Given the description of an element on the screen output the (x, y) to click on. 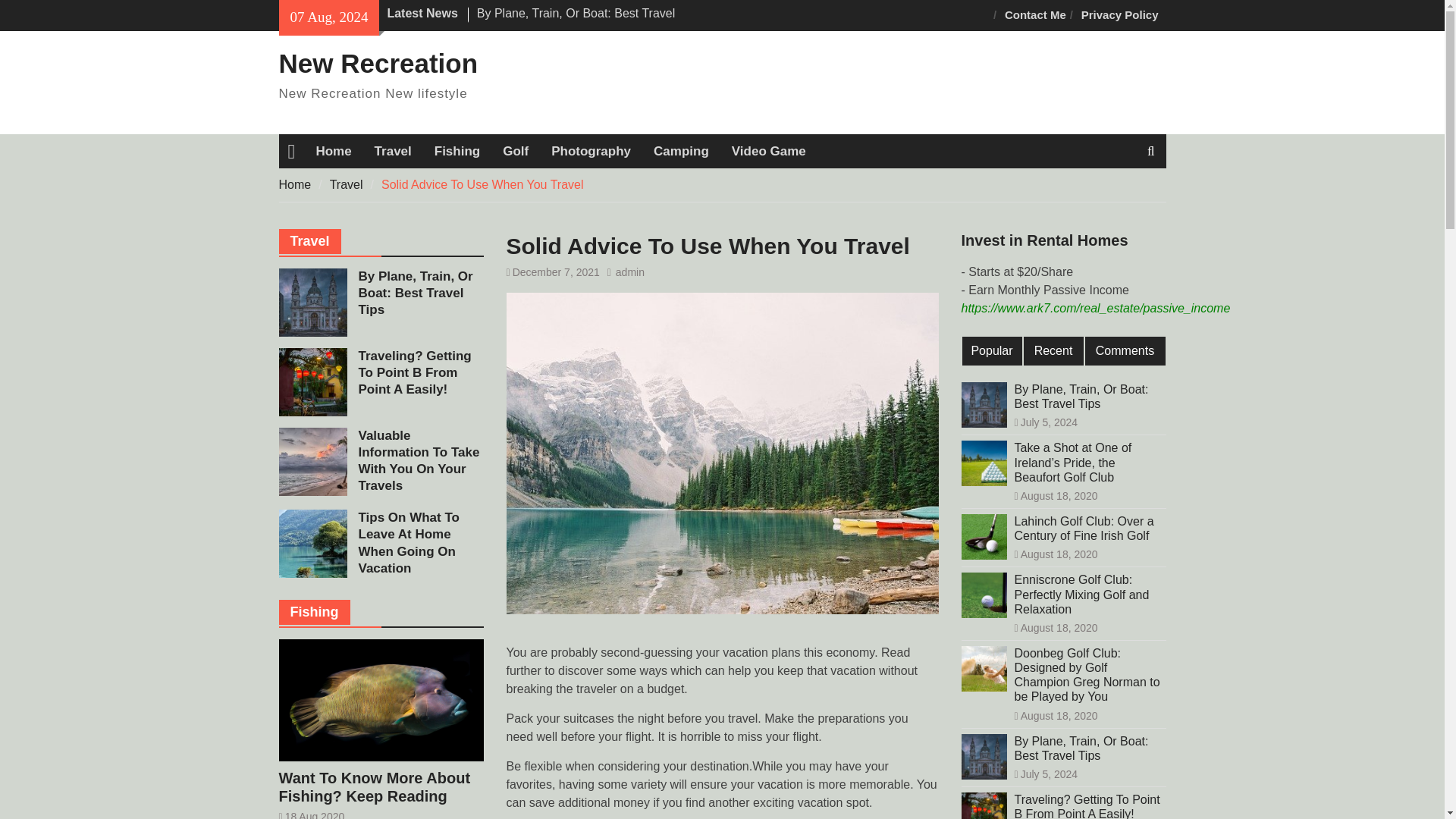
Golf (516, 150)
Enniscrone Golf Club: Perfectly Mixing Golf and Relaxation (1087, 594)
December 7, 2021 (555, 272)
Home (295, 184)
Photography (591, 150)
Home (333, 150)
Privacy Policy (1120, 15)
By Plane, Train, Or Boat: Best Travel Tips (576, 21)
By Plane, Train, Or Boat: Best Travel Tips (1087, 396)
Comments (1124, 350)
